Given the description of an element on the screen output the (x, y) to click on. 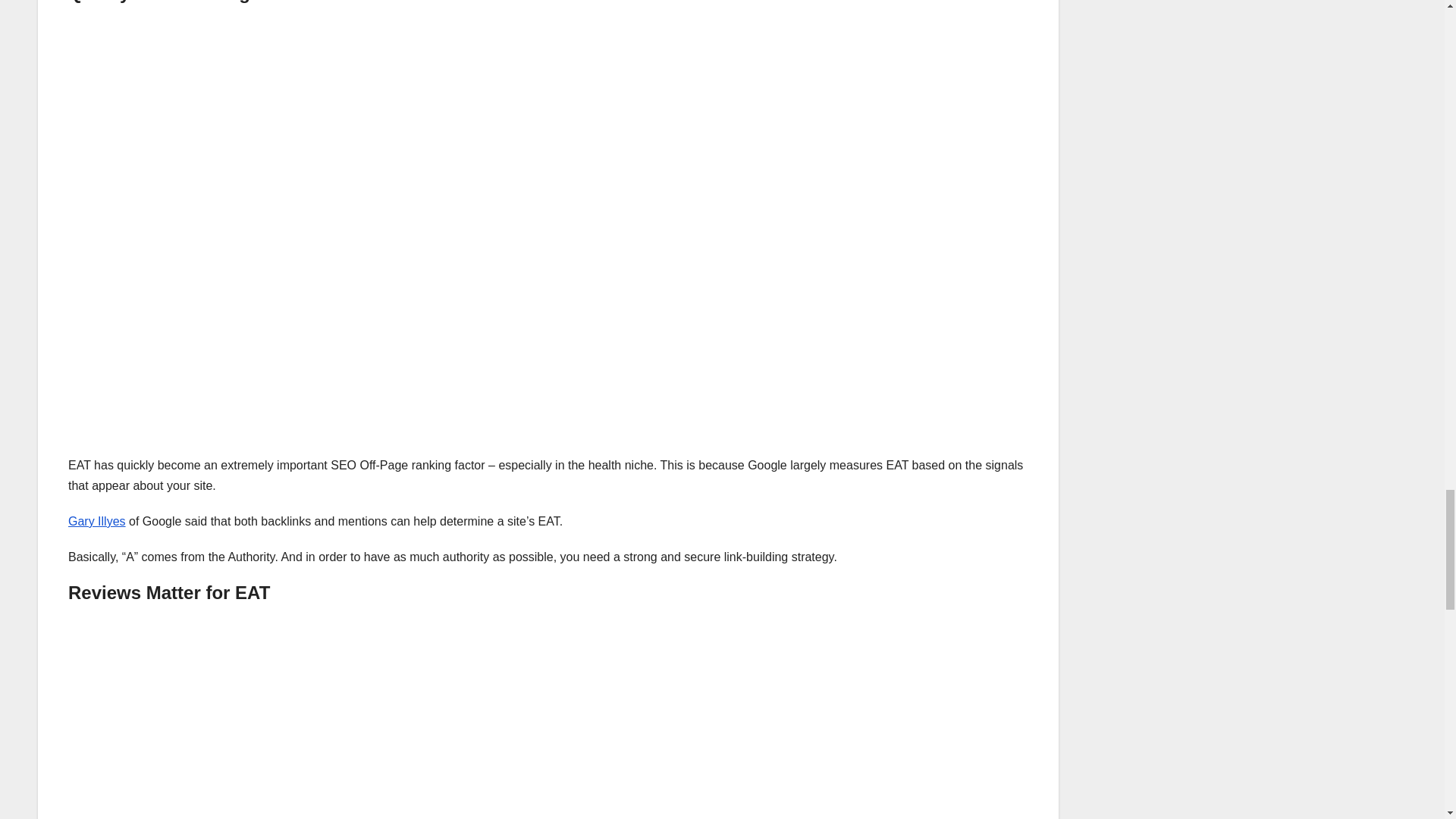
Gary Illyes (96, 521)
